Given the description of an element on the screen output the (x, y) to click on. 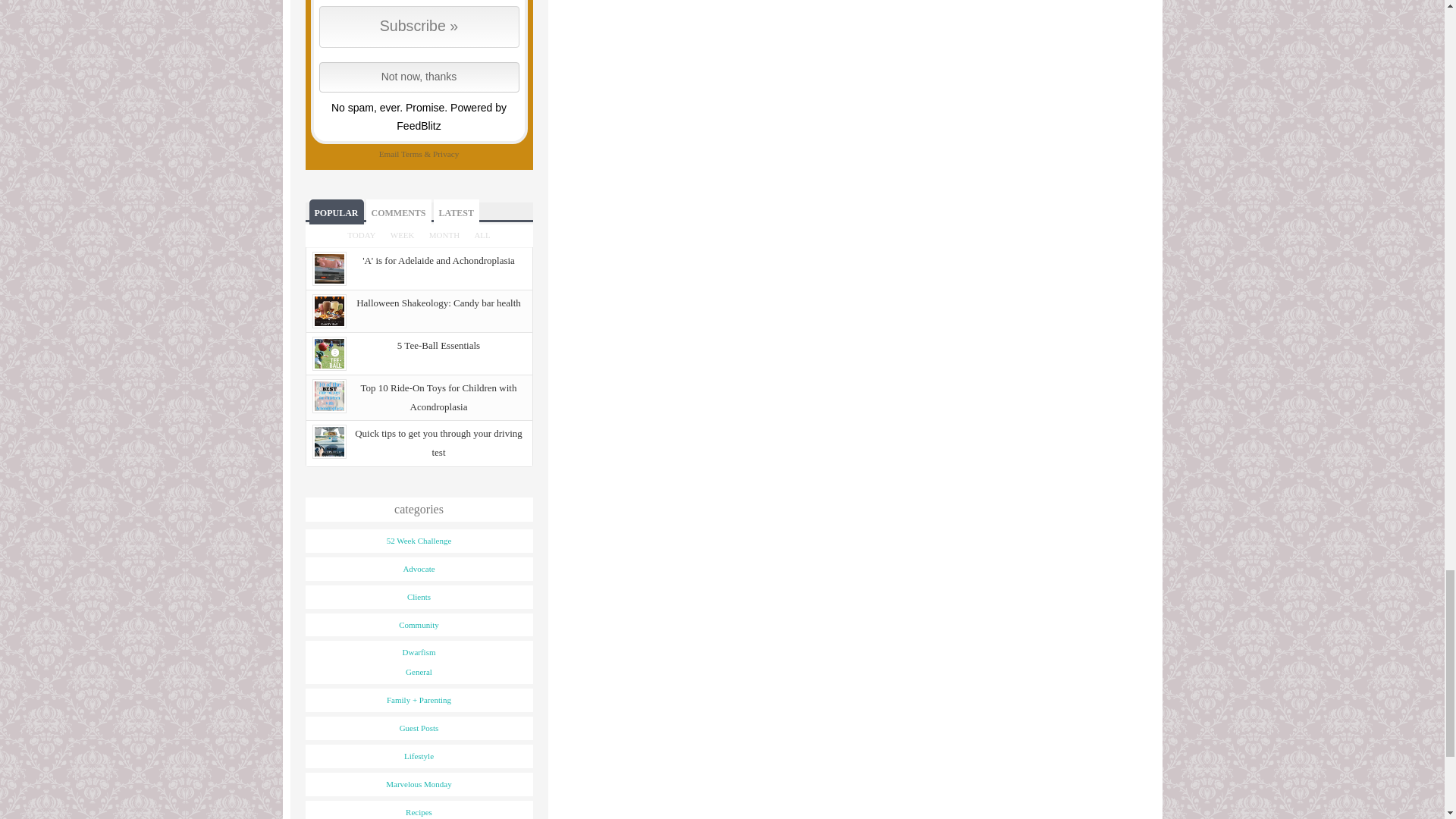
Not now, thanks (418, 77)
